Given the description of an element on the screen output the (x, y) to click on. 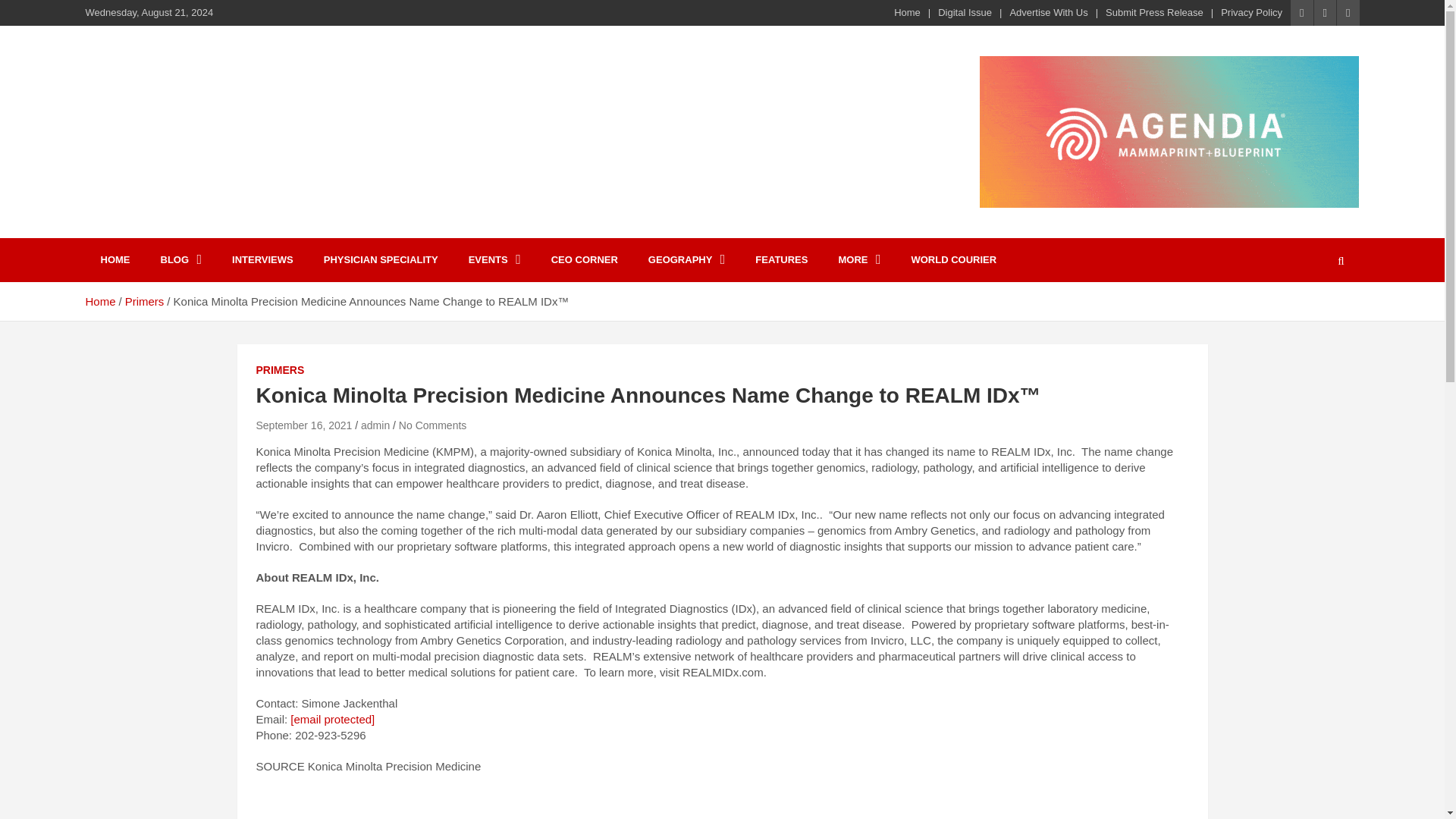
No Comments (431, 425)
Home (99, 300)
V3 Media (149, 123)
BLOG (180, 259)
Home (906, 12)
Privacy Policy (1251, 12)
HOME (114, 259)
Submit Press Release (1154, 12)
admin (375, 425)
FEATURES (780, 259)
